Given the description of an element on the screen output the (x, y) to click on. 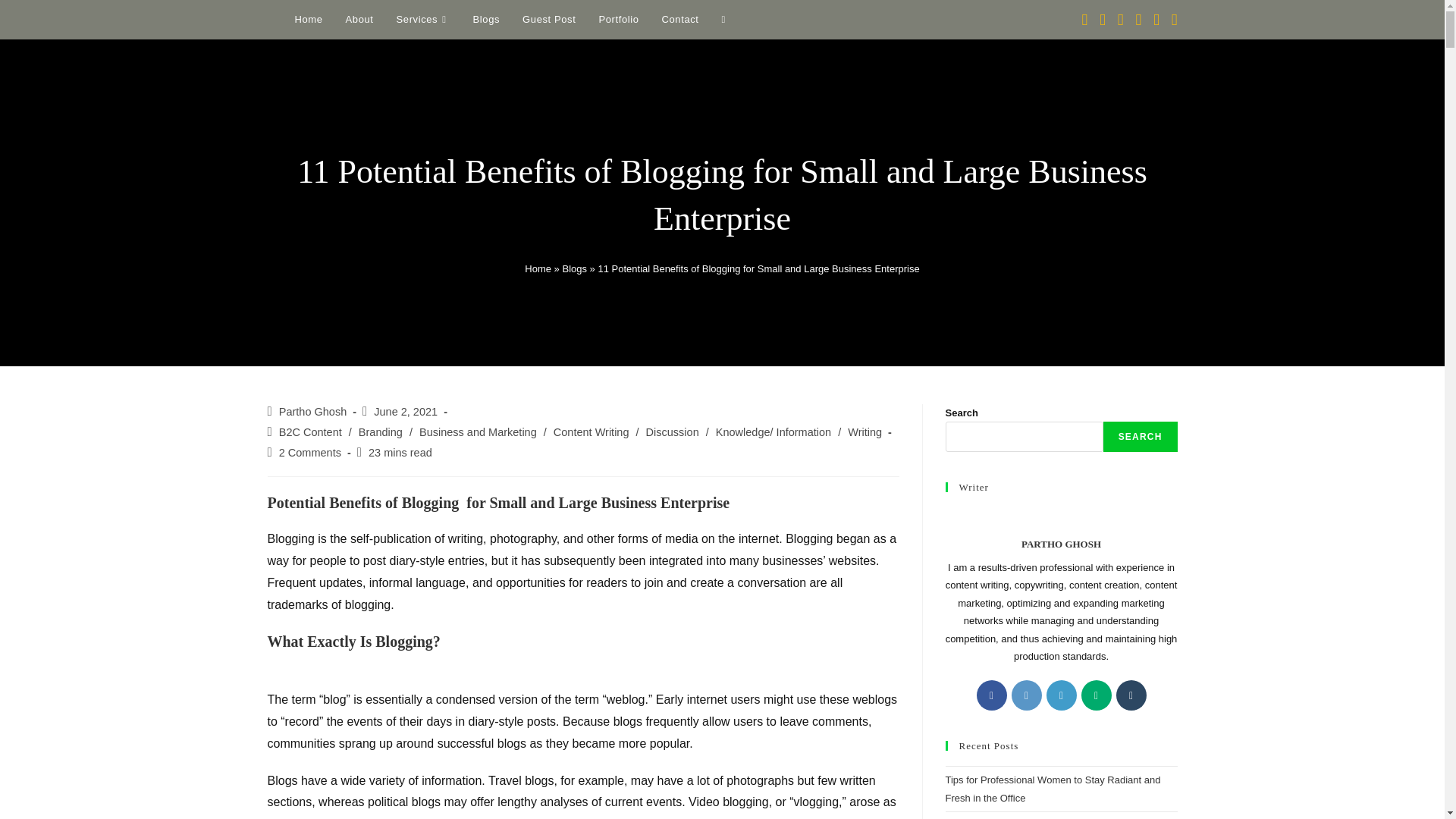
Blogs (486, 19)
Guest Post (548, 19)
Blogs (574, 268)
Home (537, 268)
Home (308, 19)
Posts by Partho Ghosh (312, 411)
Portfolio (617, 19)
Contact (680, 19)
Services (423, 19)
About (359, 19)
